Given the description of an element on the screen output the (x, y) to click on. 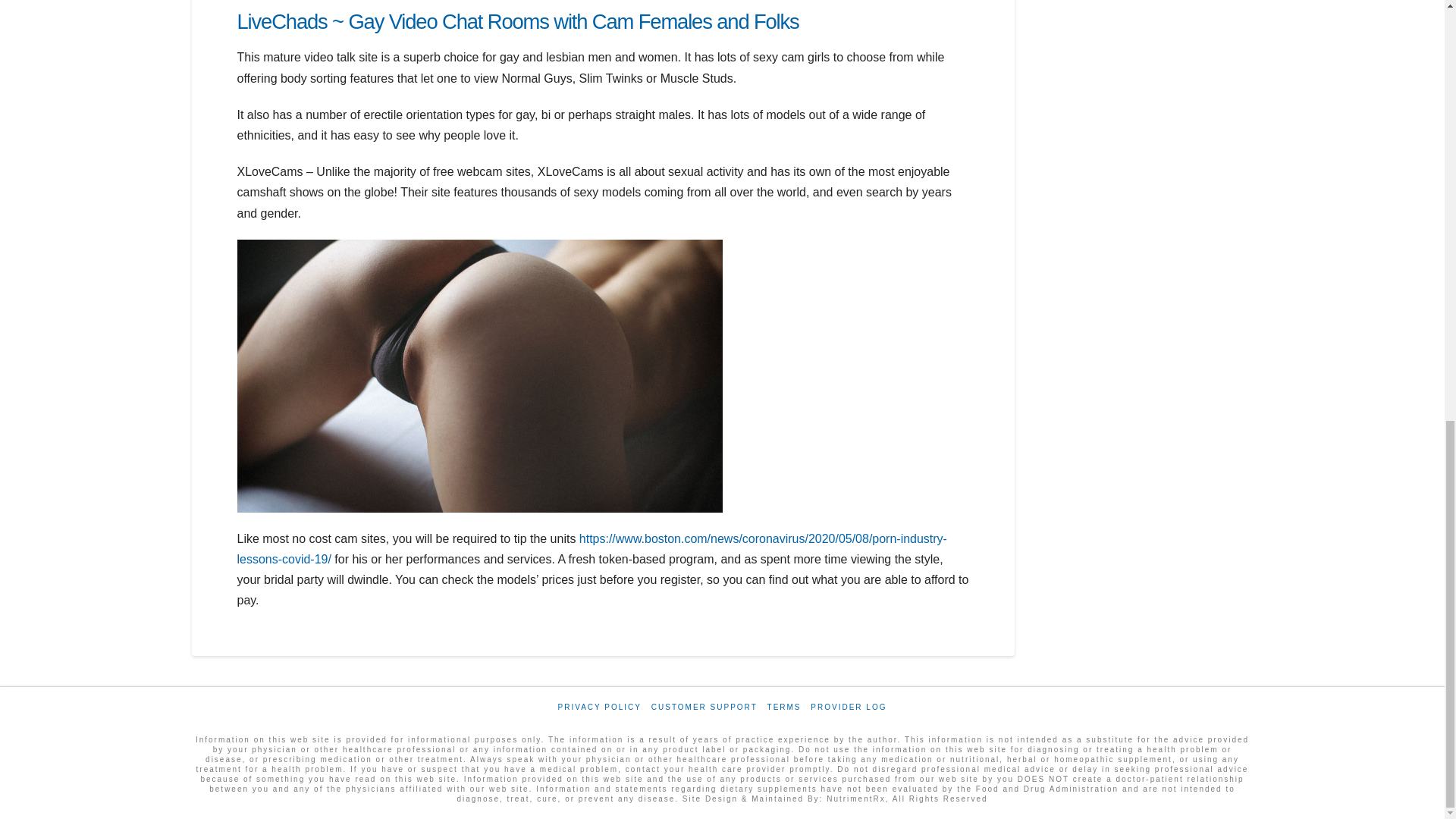
CUSTOMER SUPPORT (703, 706)
PRIVACY POLICY (599, 706)
PROVIDER LOG (848, 706)
TERMS (784, 706)
